Given the description of an element on the screen output the (x, y) to click on. 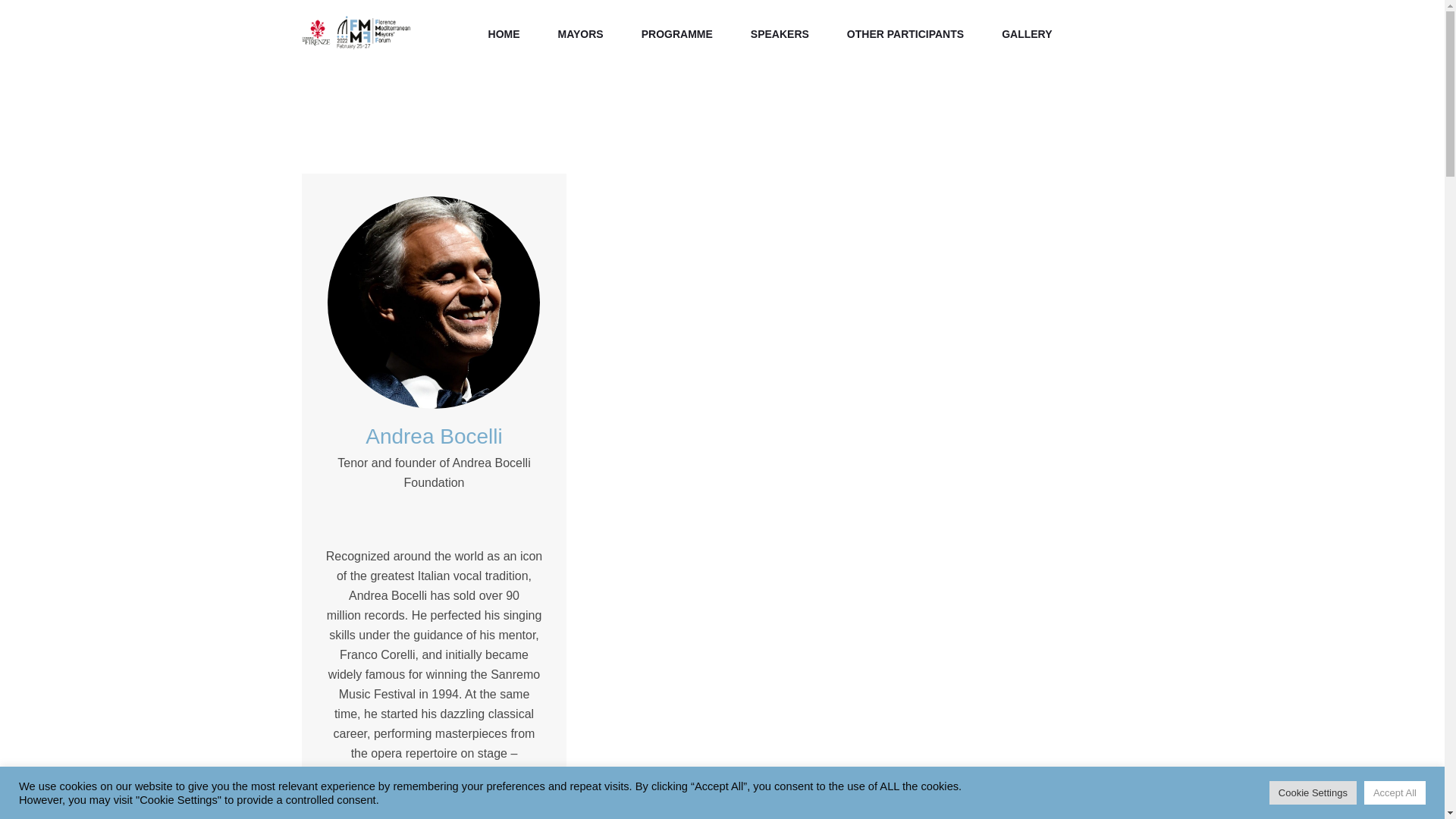
Cookie Settings (1312, 792)
OTHER PARTICIPANTS (905, 34)
Accept All (1394, 792)
SPEAKERS (779, 34)
GALLERY (1026, 34)
PROGRAMME (676, 34)
